Given the description of an element on the screen output the (x, y) to click on. 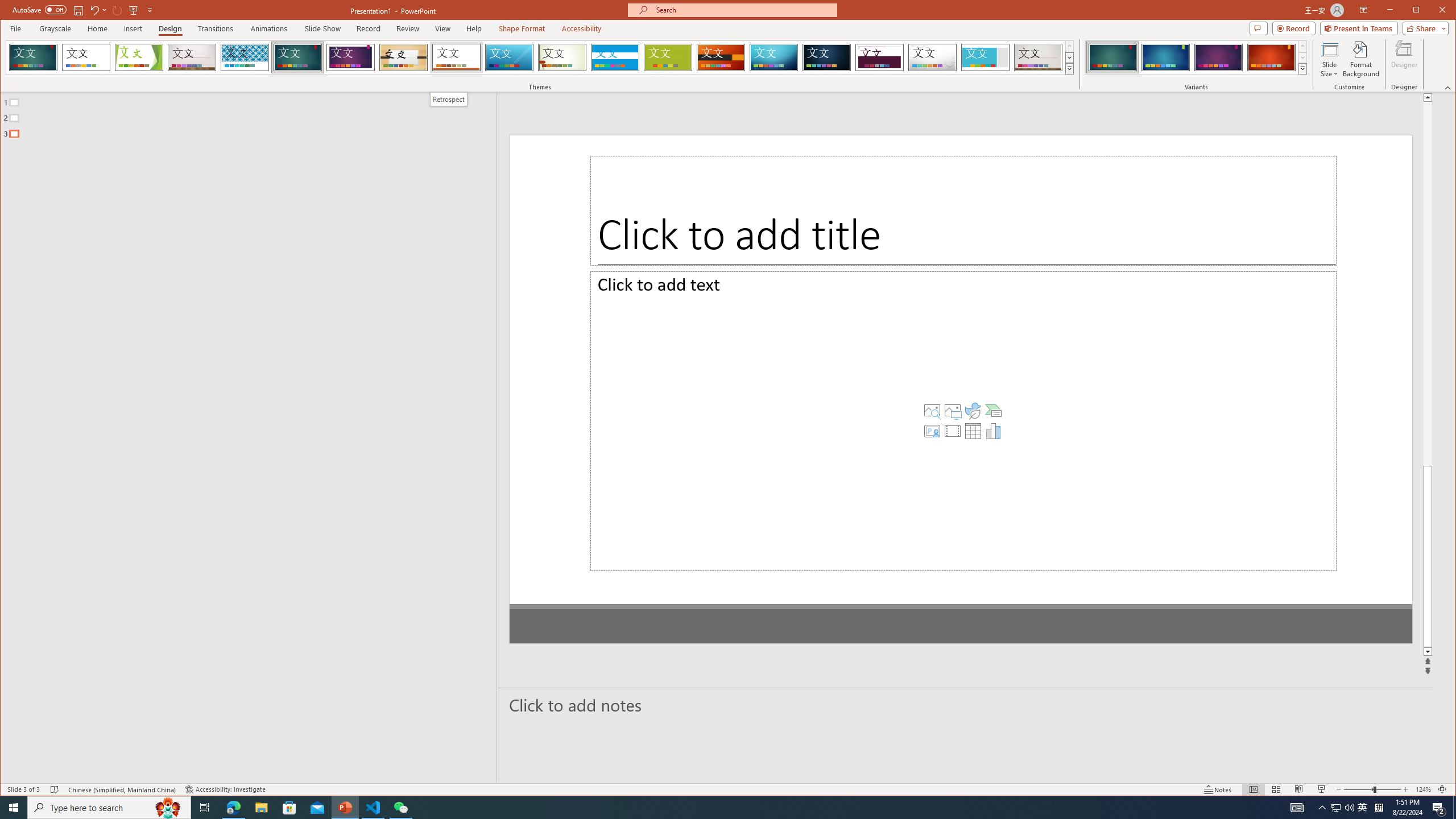
Ion (297, 57)
Frame (985, 57)
Grayscale (55, 28)
